Given the description of an element on the screen output the (x, y) to click on. 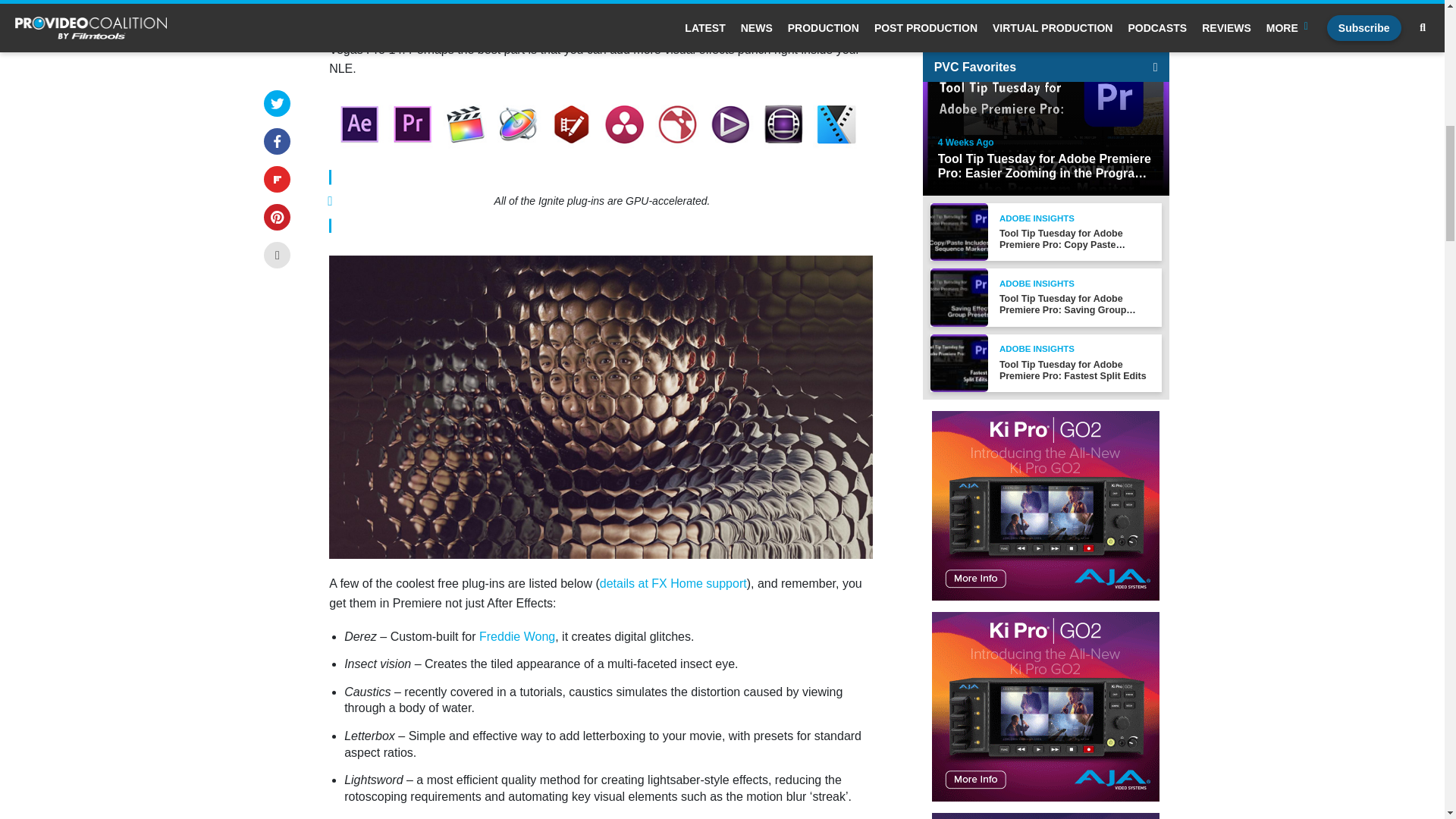
Ignite Express 2017 plug-ins: free FX for your NLE 12 (600, 124)
details at FX Home support (672, 583)
Tool Tip Tuesday for Adobe Premiere Pro: Fastest Split Edits (1072, 341)
Freddie Wong (516, 635)
PVC Favorites Page (1155, 37)
